Given the description of an element on the screen output the (x, y) to click on. 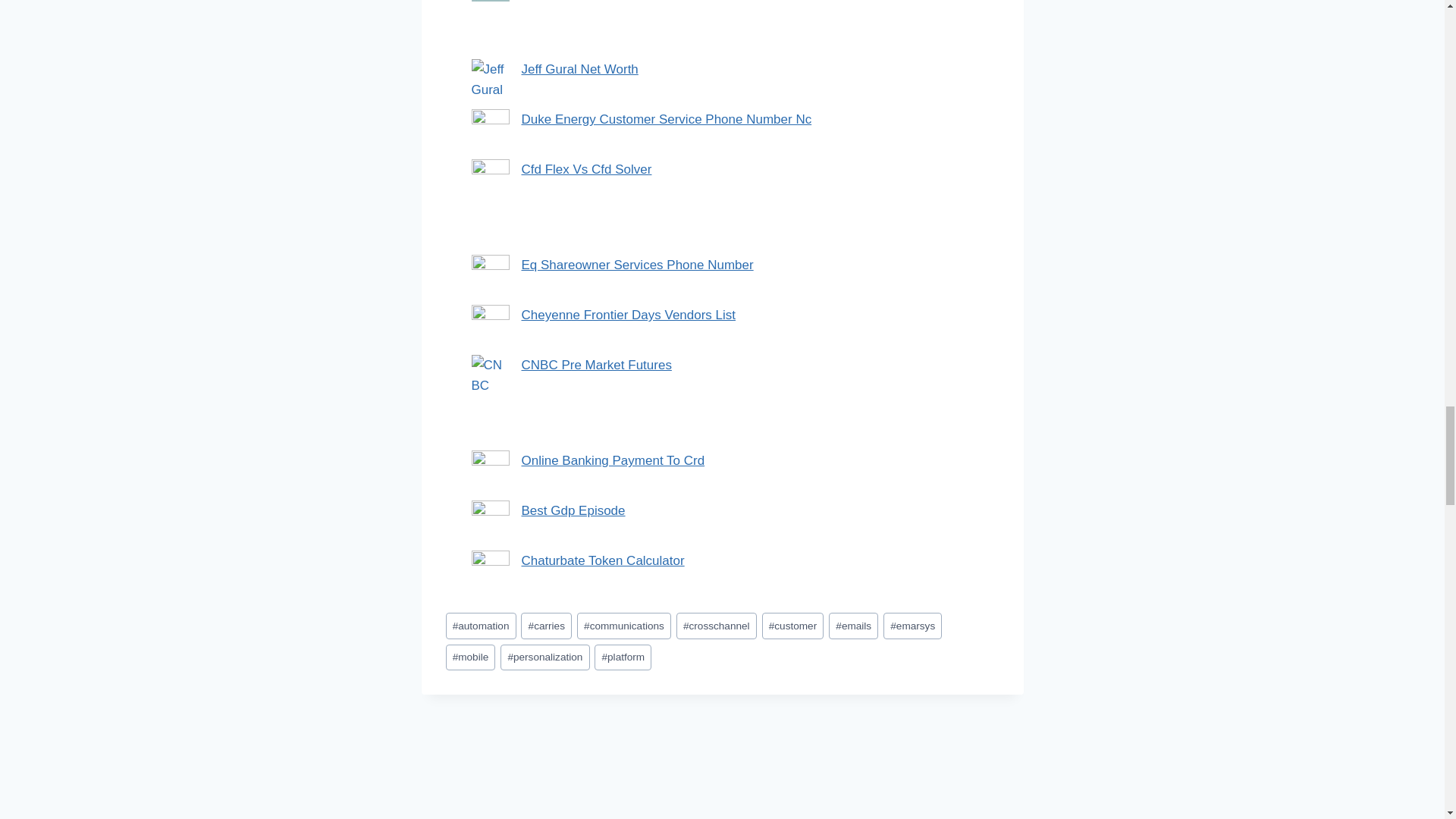
Jeff Gural Net Worth (580, 69)
communications (623, 625)
crosschannel (717, 625)
customer (792, 625)
automation (480, 625)
emarsys (912, 625)
mobile (470, 657)
platform (622, 657)
Cheyenne Frontier Days Vendors List (628, 314)
personalization (544, 657)
emails (852, 625)
Cfd Flex Vs Cfd Solver (586, 169)
Eq Shareowner Services Phone Number (637, 264)
Duke Energy Customer Service Phone Number Nc (666, 119)
carries (546, 625)
